Given the description of an element on the screen output the (x, y) to click on. 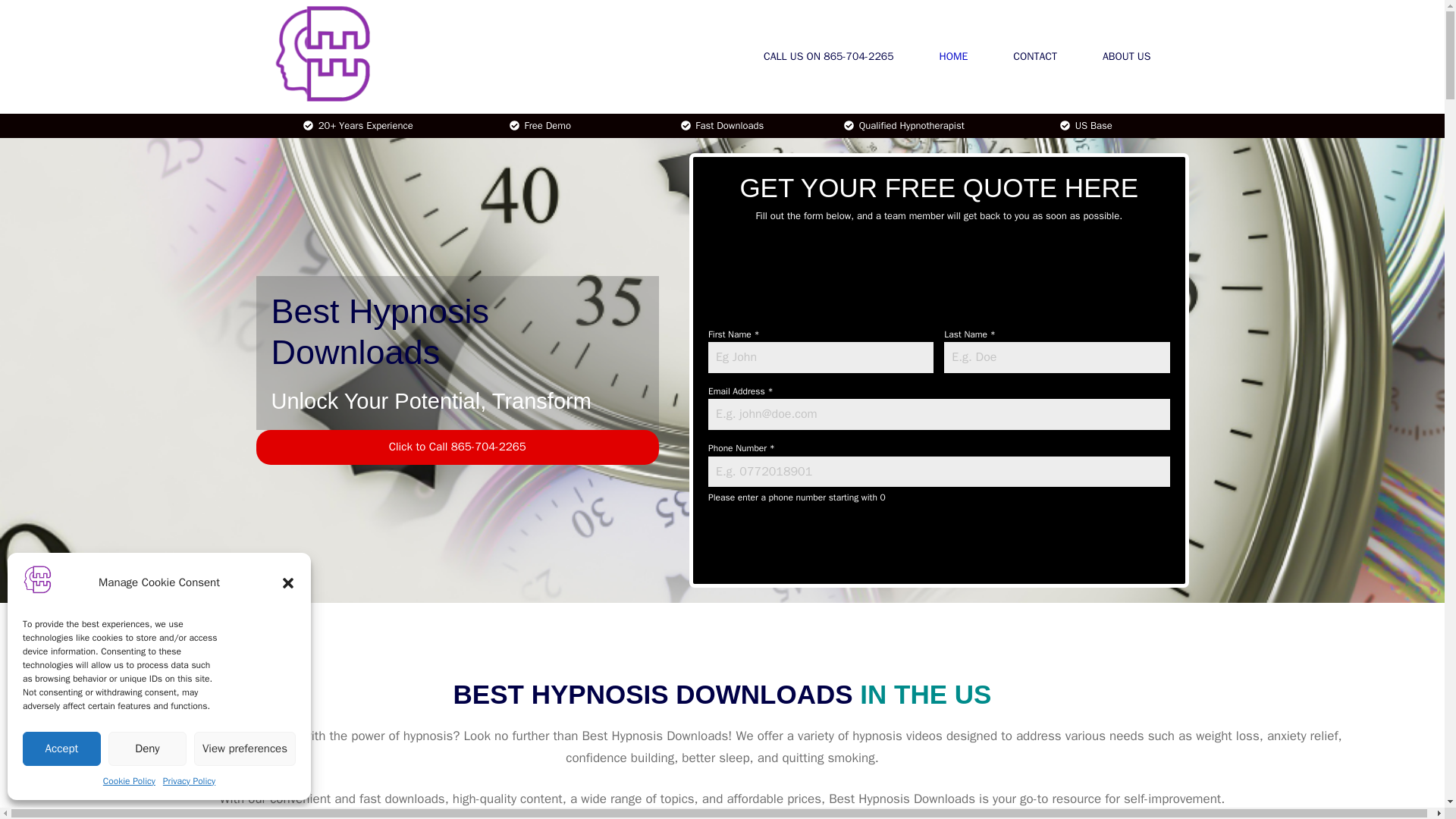
CALL US ON 865-704-2265 (829, 56)
Deny (146, 748)
HOME (954, 56)
Click to Call 865-704-2265 (457, 447)
ABOUT US (1126, 56)
Privacy Policy (189, 780)
View preferences (244, 748)
Accept (61, 748)
CONTACT (1035, 56)
Cookie Policy (129, 780)
